Given the description of an element on the screen output the (x, y) to click on. 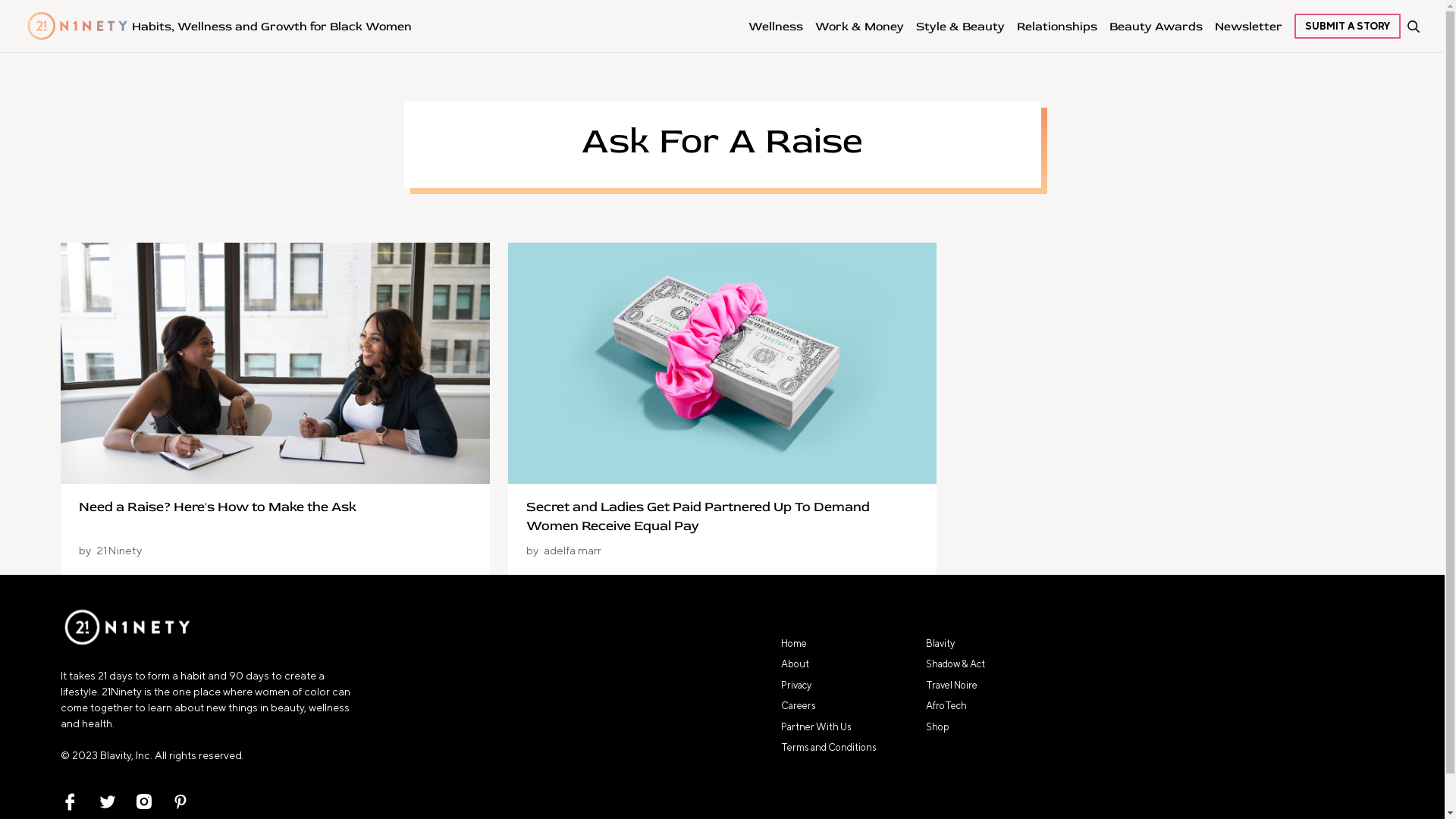
Style & Beauty Element type: text (960, 25)
Blavity Element type: text (939, 643)
Wellness Element type: text (775, 25)
Travel Noire Element type: text (950, 684)
Careers Element type: text (798, 705)
adelfa marr Element type: text (572, 549)
About Element type: text (795, 663)
SUBMIT A STORY Element type: text (1347, 25)
Partner With Us Element type: text (816, 726)
Newsletter Element type: text (1248, 25)
Terms and Conditions Element type: text (828, 747)
21Ninety Element type: text (118, 549)
Shadow & Act Element type: text (954, 663)
Privacy Element type: text (796, 684)
AfroTech Element type: text (945, 705)
Shop Element type: text (936, 726)
Beauty Awards Element type: text (1155, 25)
Relationships Element type: text (1056, 25)
Blavity, Inc. Element type: text (126, 755)
Work & Money Element type: text (859, 25)
Home Element type: text (793, 643)
